Given the description of an element on the screen output the (x, y) to click on. 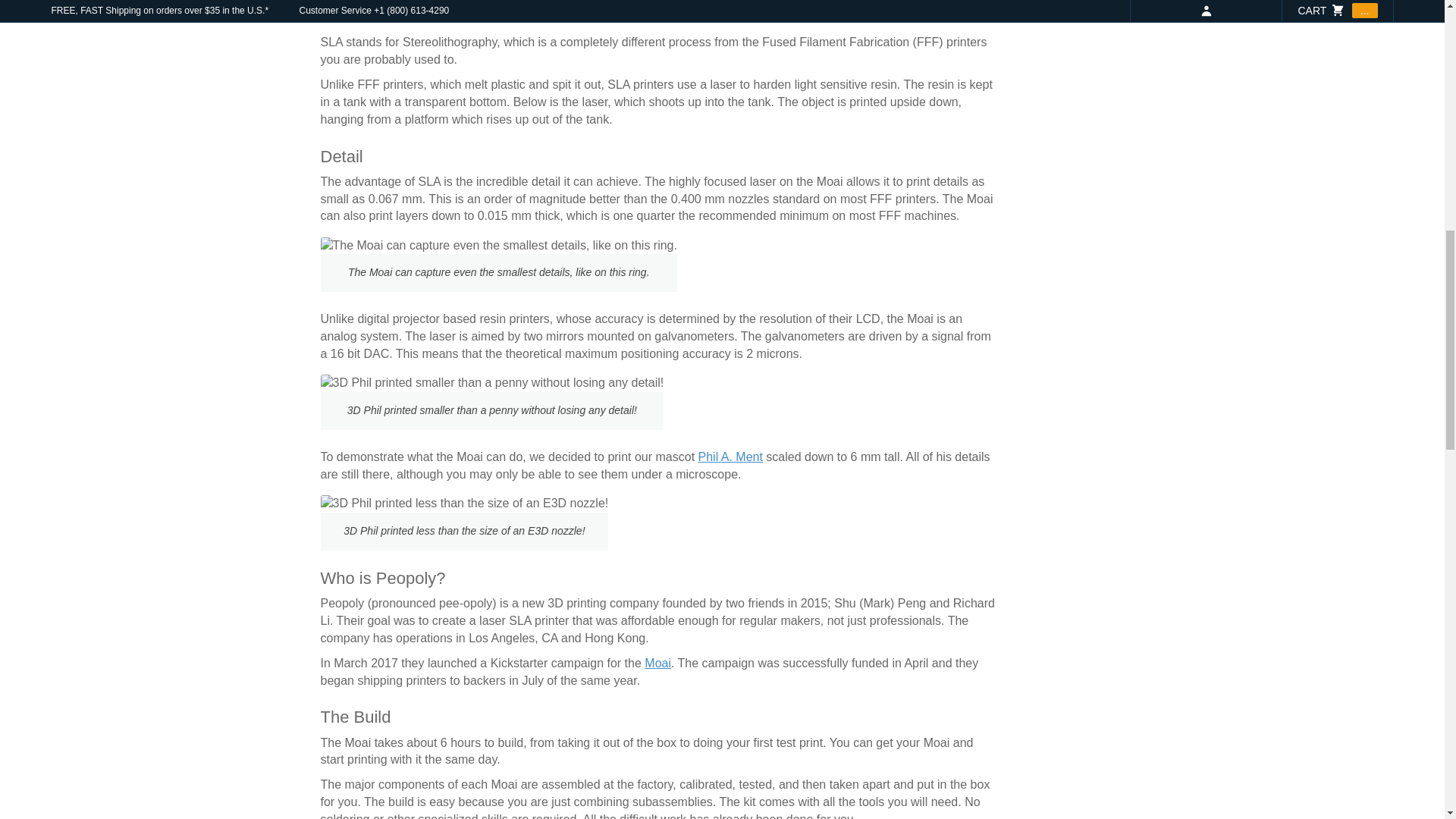
3D Phil printed less than the size of an E3D nozzle! (464, 503)
